Given the description of an element on the screen output the (x, y) to click on. 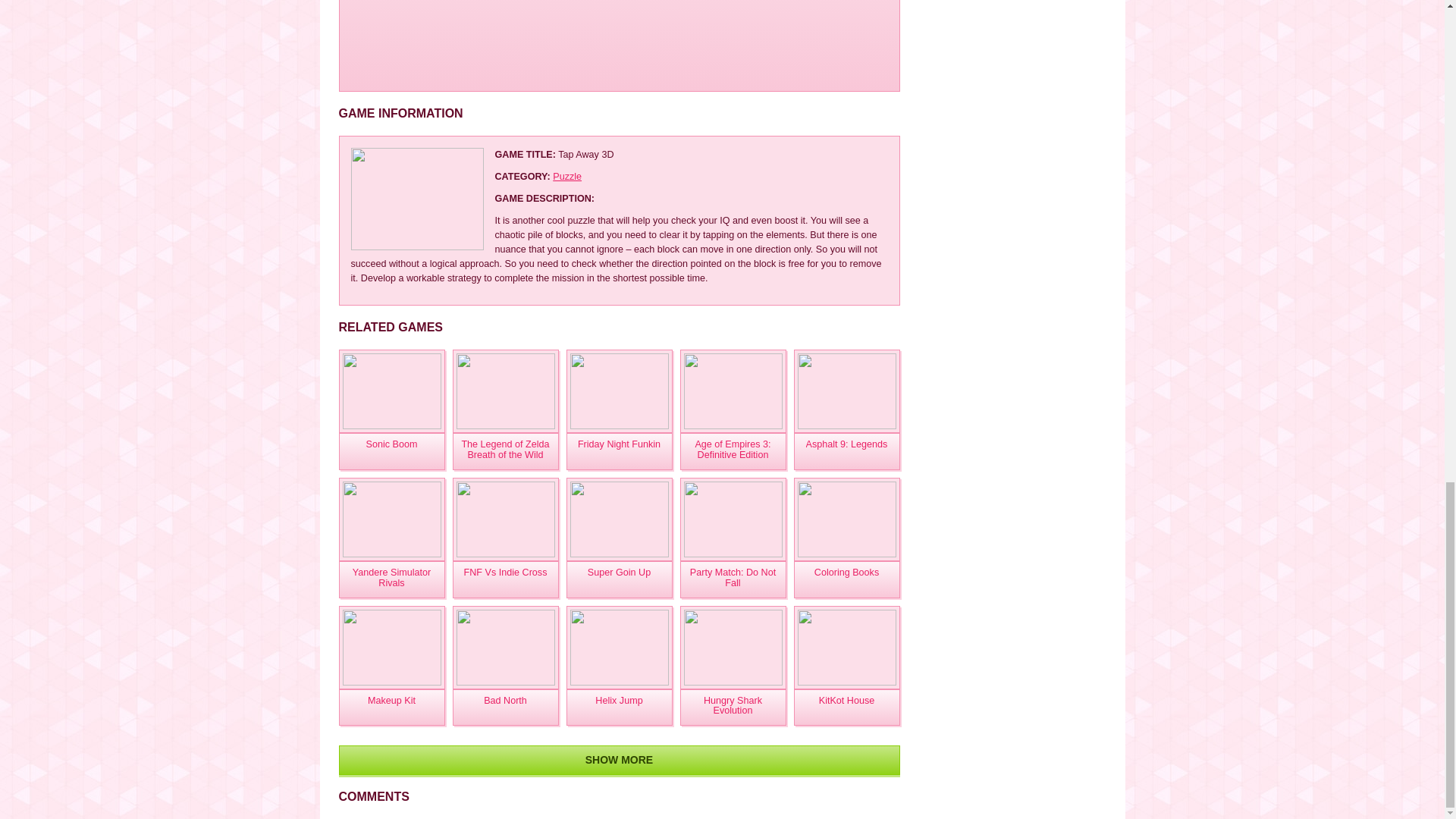
Age of Empires 3: Definitive Edition (732, 391)
Sonic Boom (390, 451)
The Legend of Zelda Breath of the Wild (504, 451)
Yandere Simulator Rivals (390, 579)
Friday Night Funkin (618, 451)
Puzzle (566, 176)
Friday Night Funkin (618, 391)
Sonic Boom (390, 451)
Asphalt 9: Legends (846, 451)
Asphalt 9: Legends (846, 451)
Coloring Books (846, 579)
The Legend of Zelda Breath of the Wild (504, 391)
Friday Night Funkin (618, 451)
Age of Empires 3: Definitive Edition (732, 451)
Age of Empires 3: Definitive Edition (732, 451)
